Given the description of an element on the screen output the (x, y) to click on. 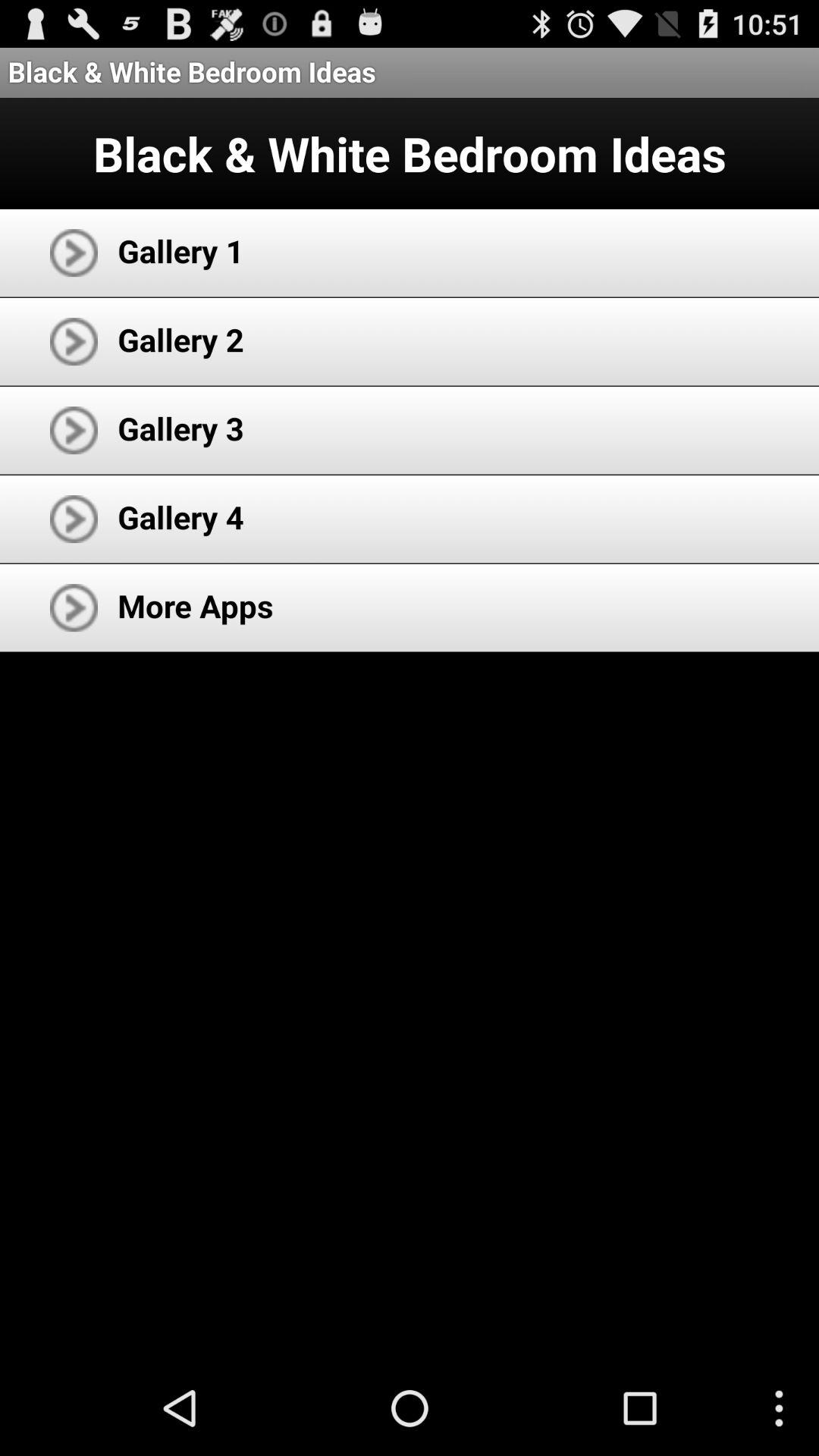
select item below the black white bedroom app (180, 250)
